Given the description of an element on the screen output the (x, y) to click on. 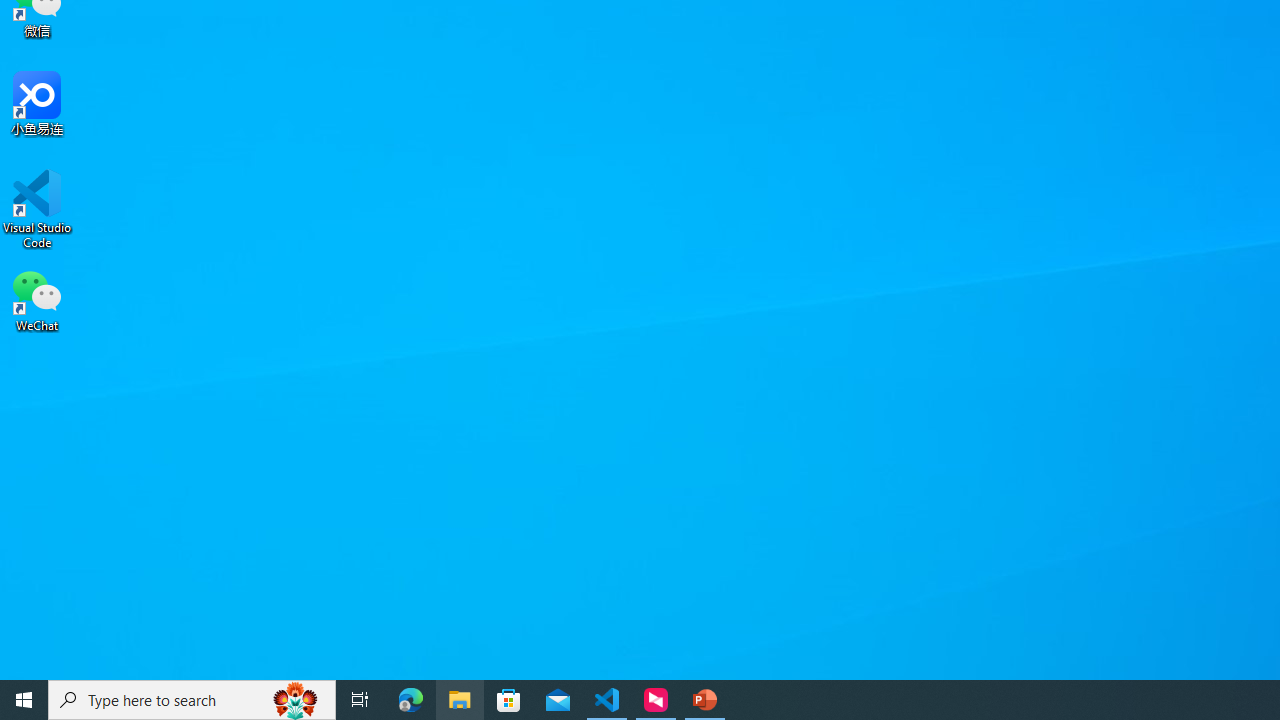
Microsoft Edge (411, 699)
Accessibility Checker Accessibility: Good to go (397, 668)
